Given the description of an element on the screen output the (x, y) to click on. 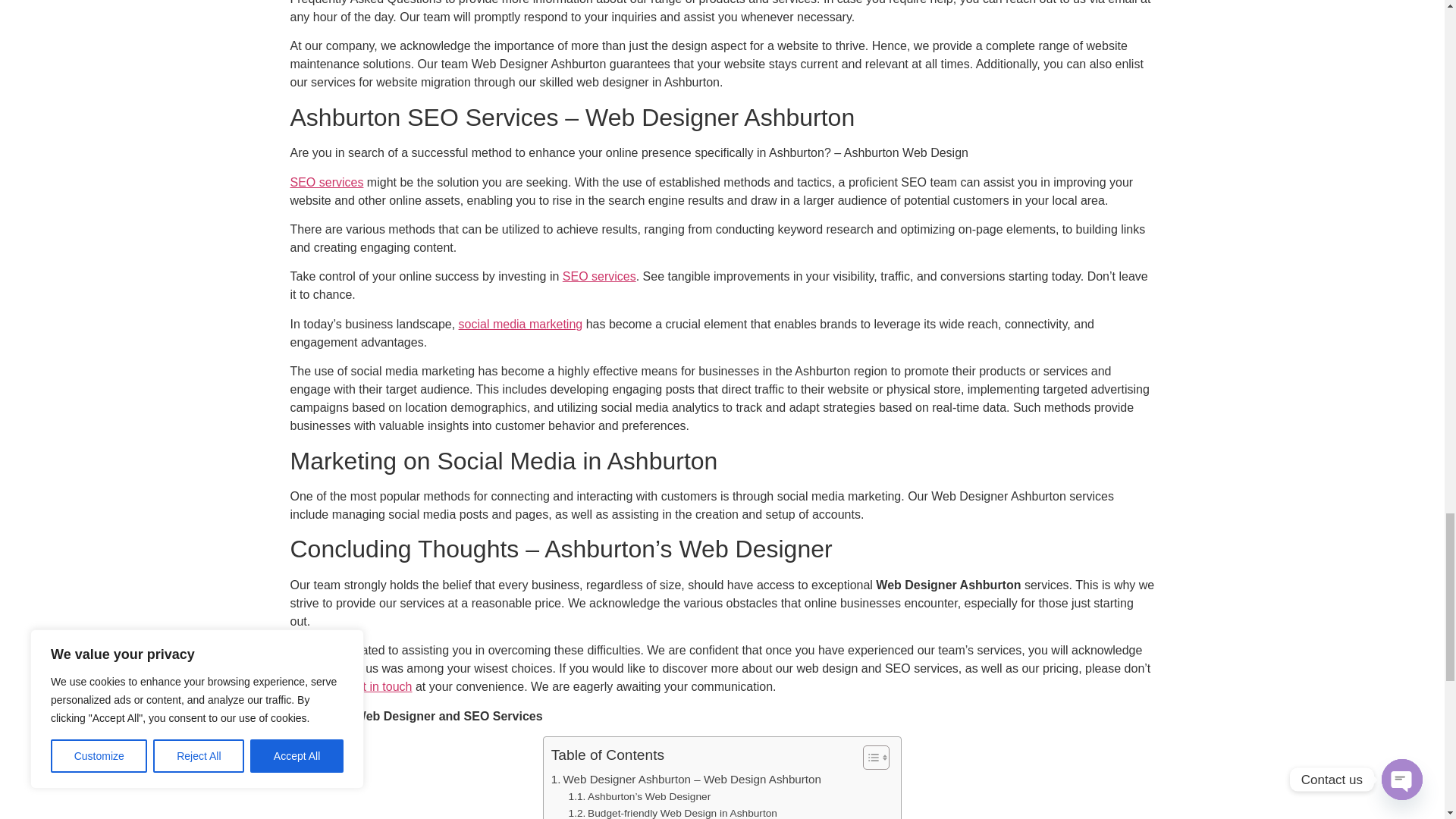
Budget-friendly Web Design in Ashburton (673, 812)
Social Media Marketing (520, 323)
SEO Services (599, 276)
